Given the description of an element on the screen output the (x, y) to click on. 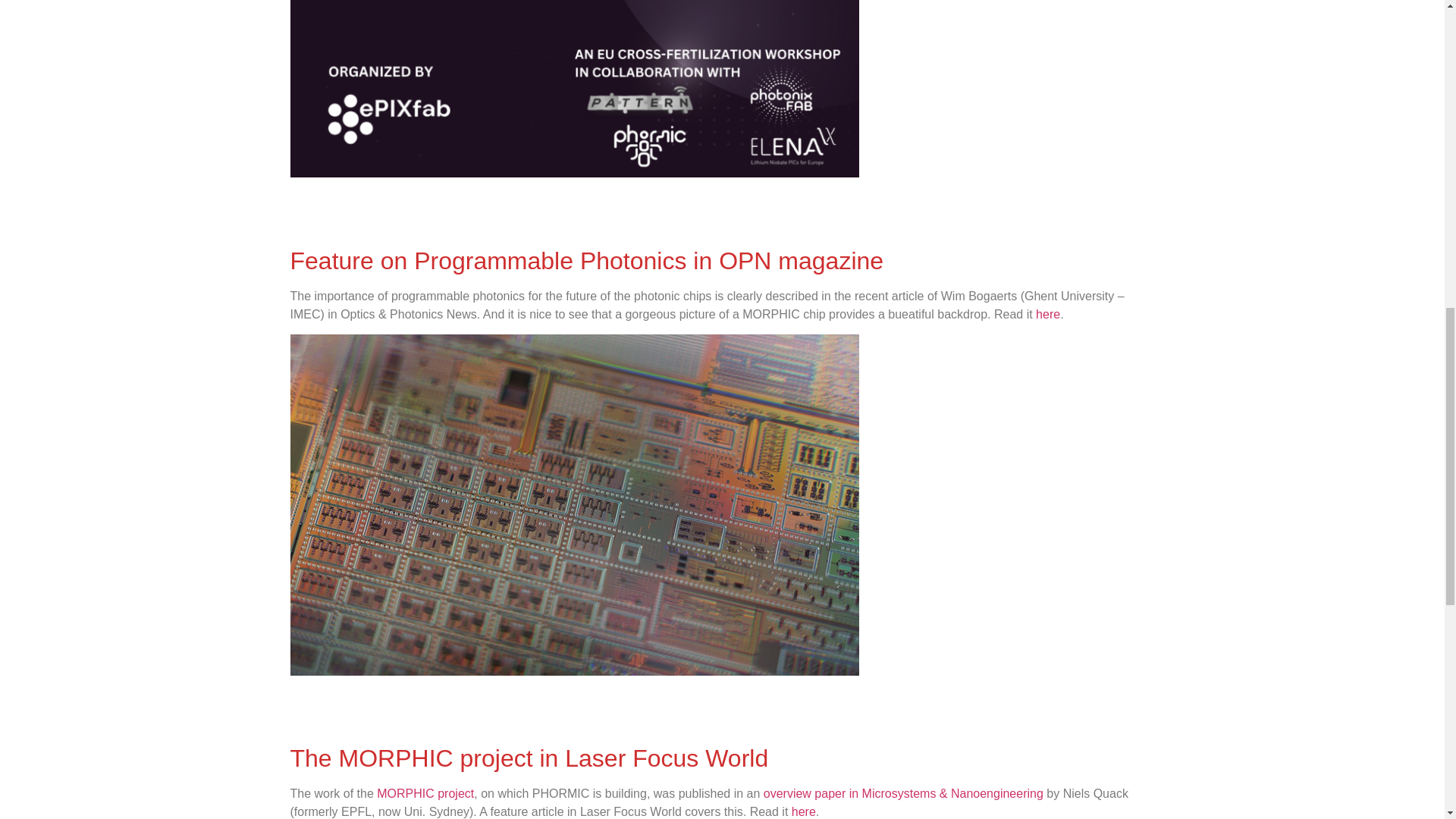
MORPHIC project (425, 793)
here (803, 811)
here (1047, 314)
